Given the description of an element on the screen output the (x, y) to click on. 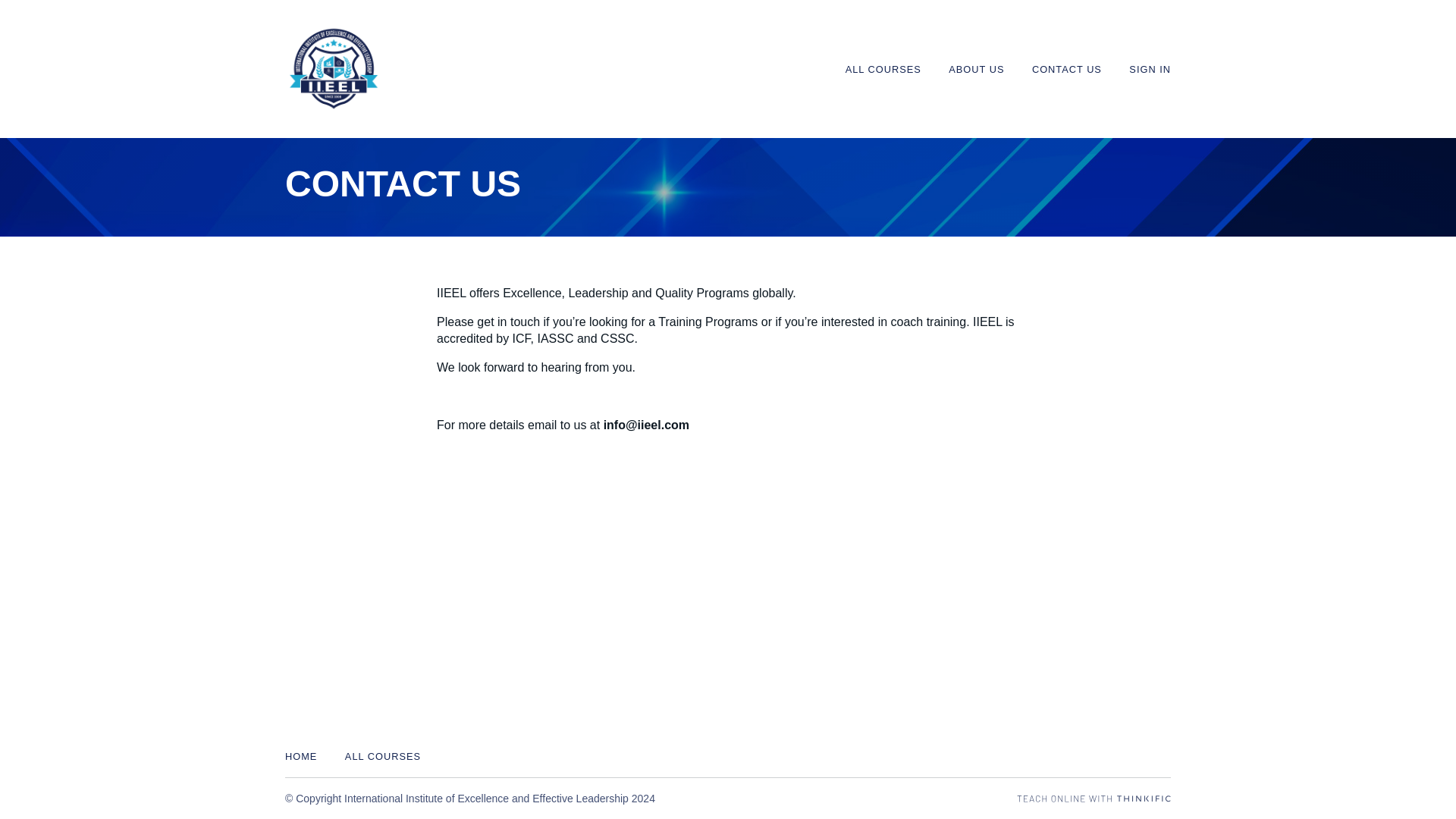
Teach online with Thinkific (1093, 798)
HOME (301, 756)
ALL COURSES (382, 756)
CONTACT US (1067, 69)
ALL COURSES (883, 69)
ABOUT US (976, 69)
SIGN IN (1149, 69)
